Given the description of an element on the screen output the (x, y) to click on. 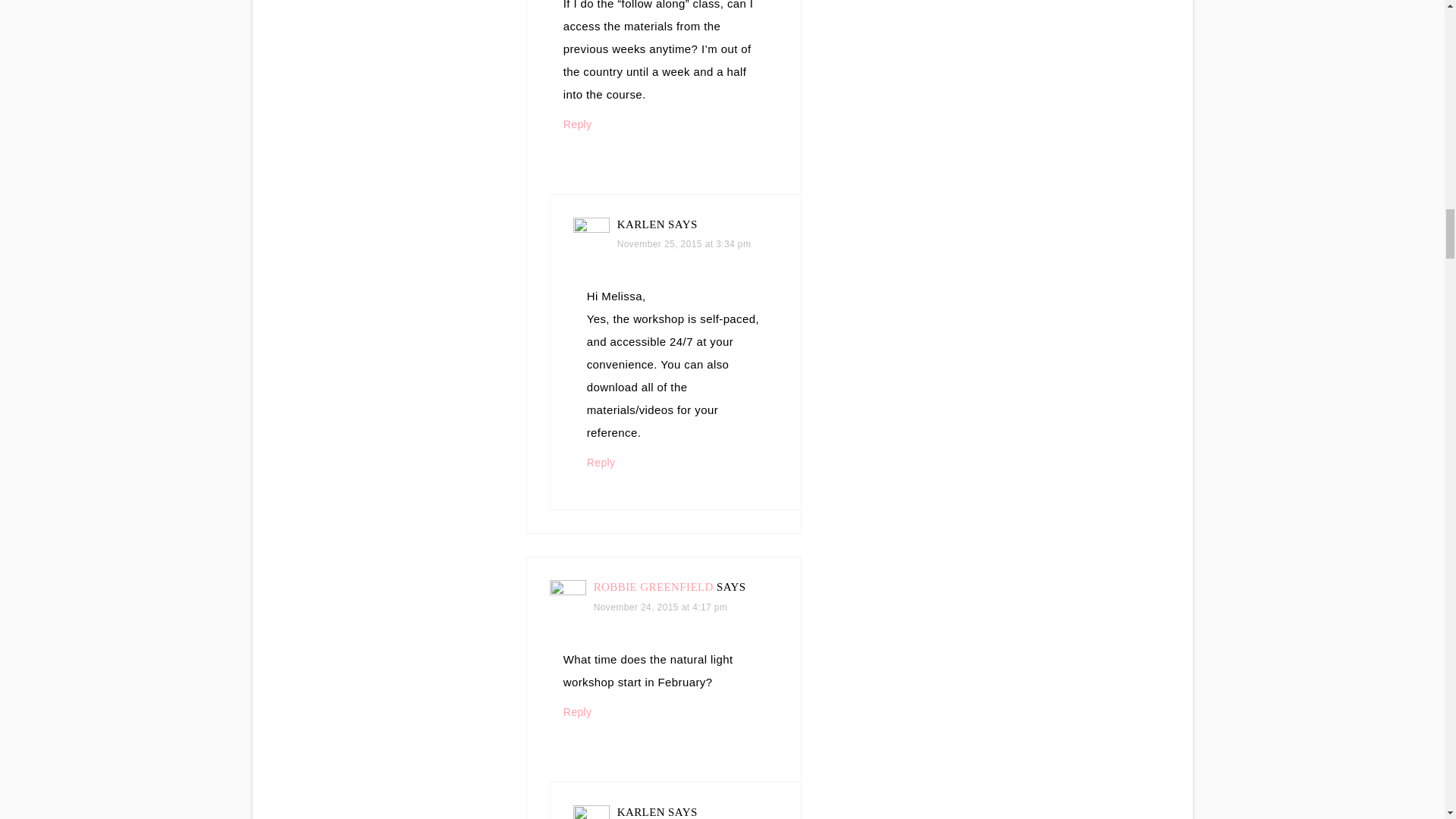
Reply (600, 462)
November 25, 2015 at 3:34 pm (684, 244)
ROBBIE GREENFIELD (653, 586)
November 24, 2015 at 4:17 pm (661, 606)
Reply (577, 711)
Reply (577, 123)
